Given the description of an element on the screen output the (x, y) to click on. 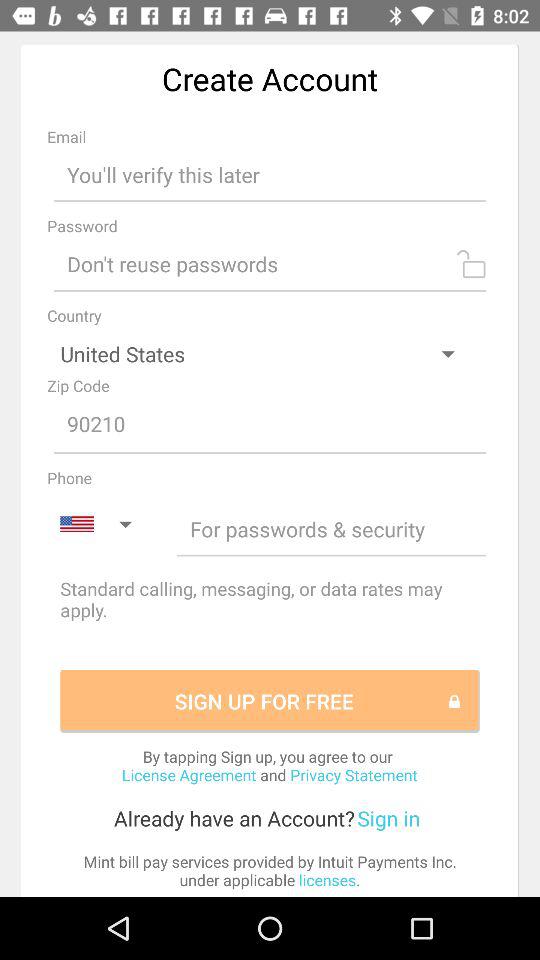
creat password (270, 263)
